Given the description of an element on the screen output the (x, y) to click on. 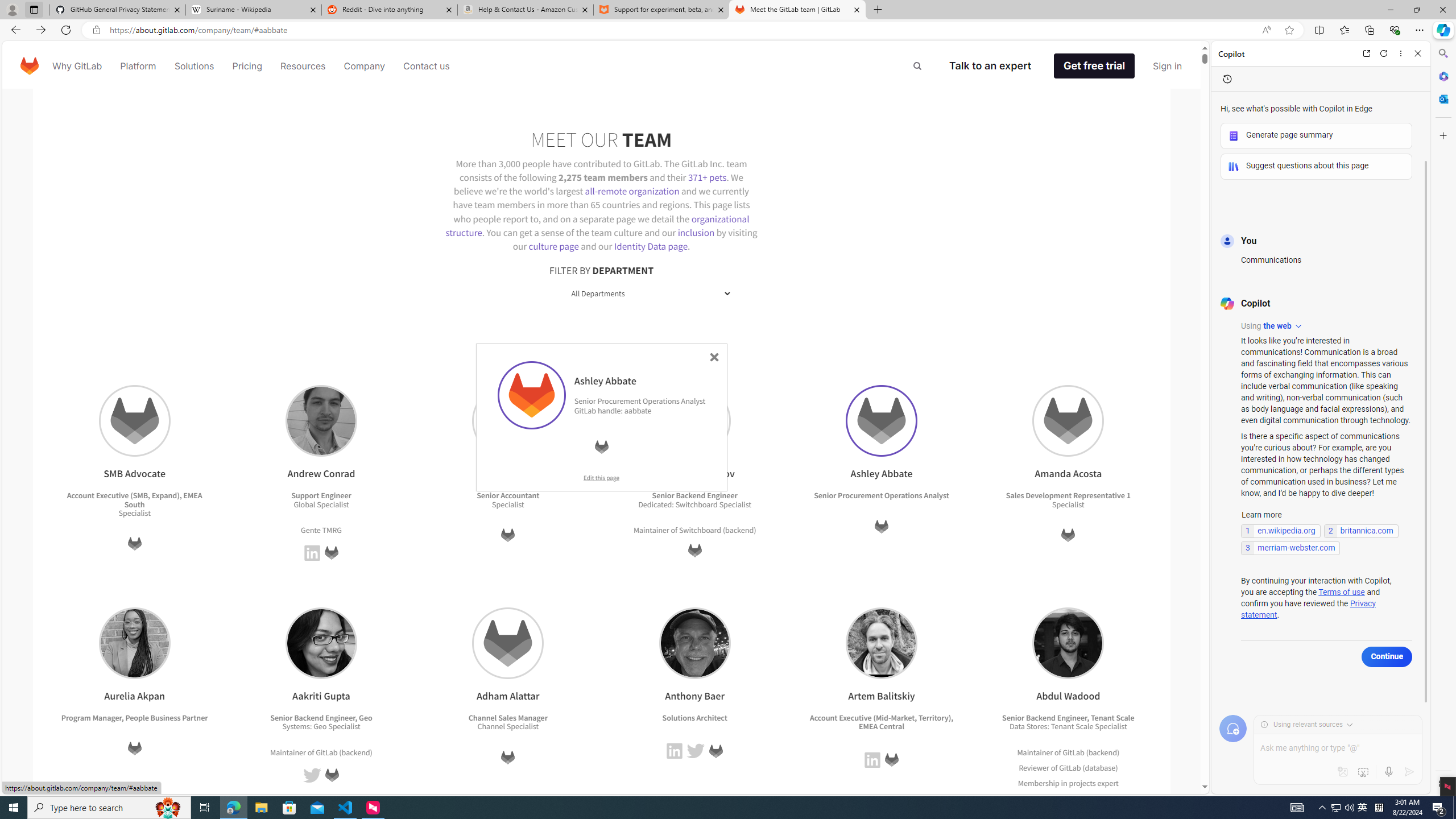
Aakriti Gupta (320, 642)
Amanda Acosta (1067, 420)
Adham Alattar (508, 642)
GitHub General Privacy Statement - GitHub Docs (117, 9)
expert (1105, 797)
Why GitLab (77, 65)
Reviewer (1034, 767)
Company (364, 65)
Amanda Acosta (1068, 420)
Reviewer of GitLab (database) (1067, 767)
